Given the description of an element on the screen output the (x, y) to click on. 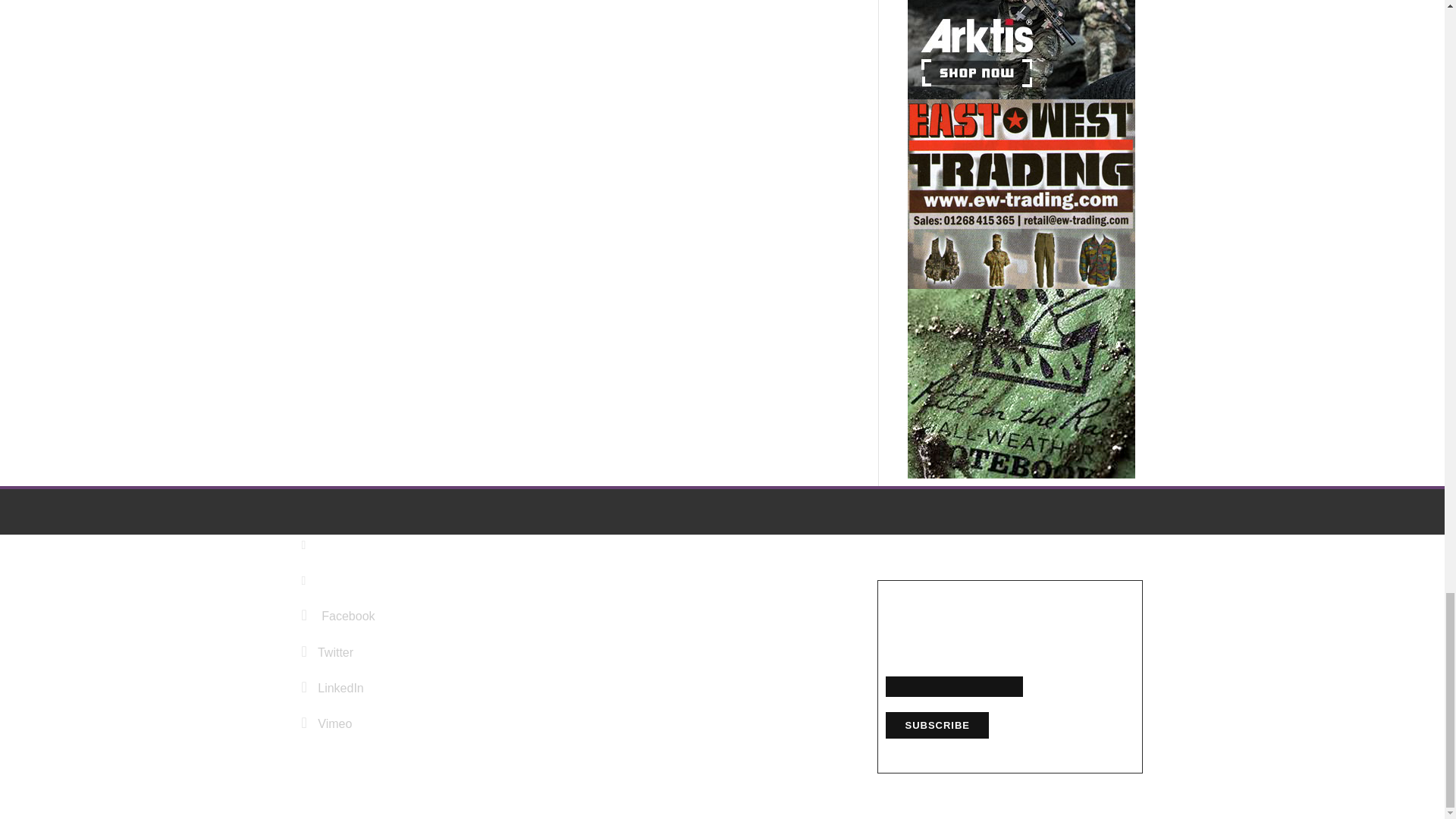
Subscribe (936, 724)
